Given the description of an element on the screen output the (x, y) to click on. 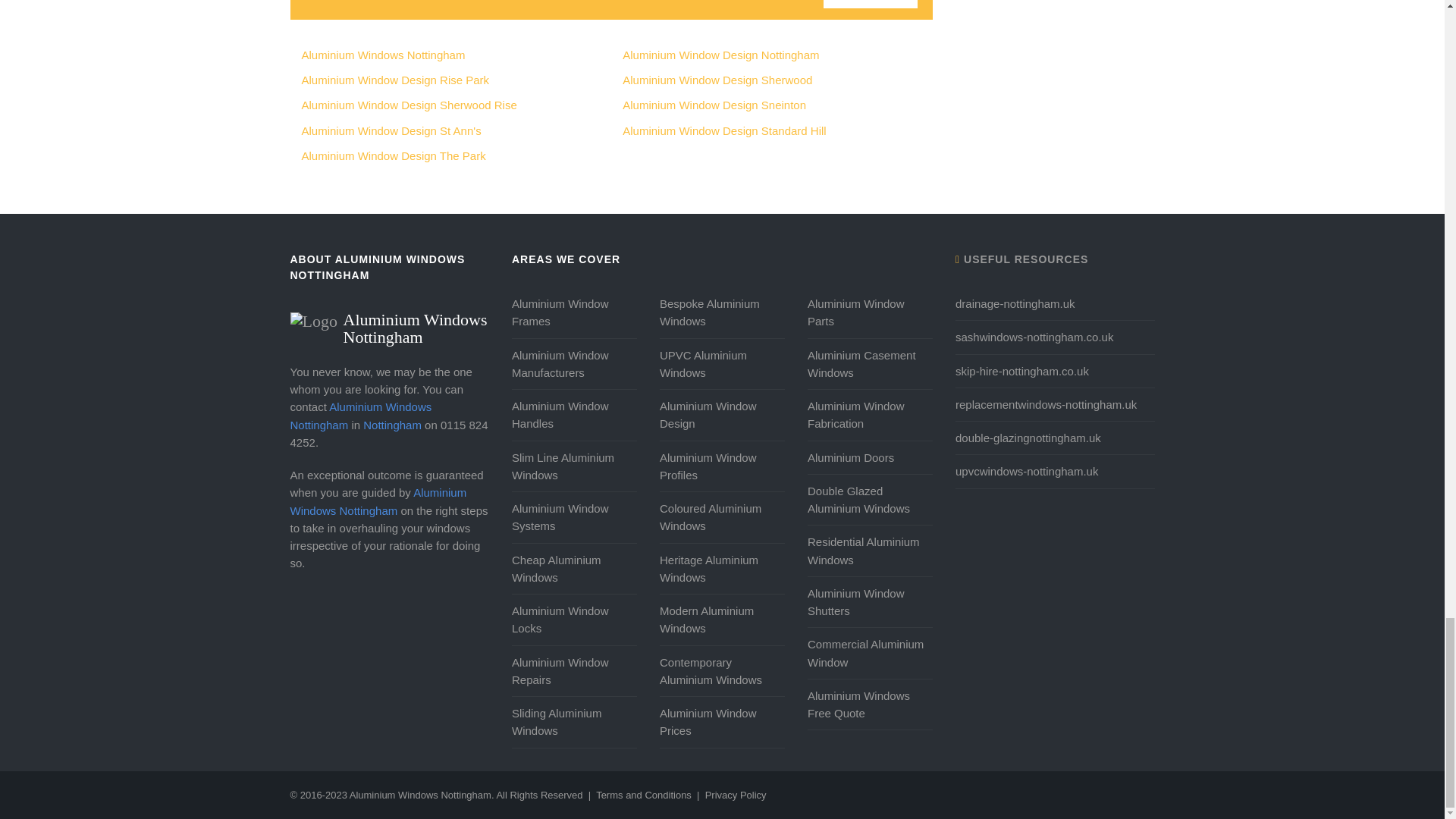
Aluminium Windows Nottingham (389, 320)
